Given the description of an element on the screen output the (x, y) to click on. 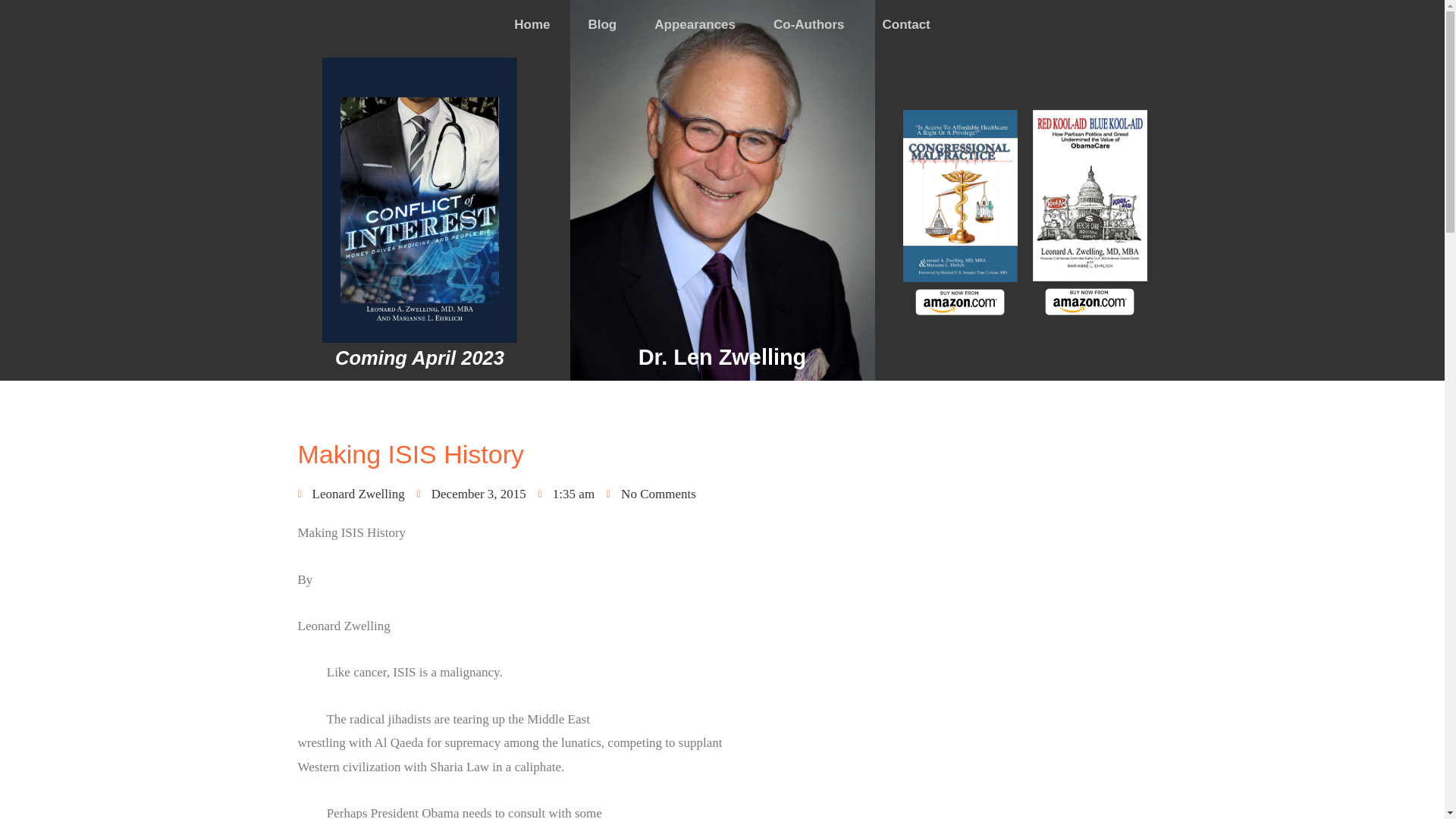
Home (531, 24)
No Comments (651, 494)
Blog (601, 24)
Dr. Len Zwelling (722, 356)
Co-Authors (808, 24)
Contact (905, 24)
Leonard Zwelling (350, 494)
Appearances (695, 24)
December 3, 2015 (470, 494)
